Given the description of an element on the screen output the (x, y) to click on. 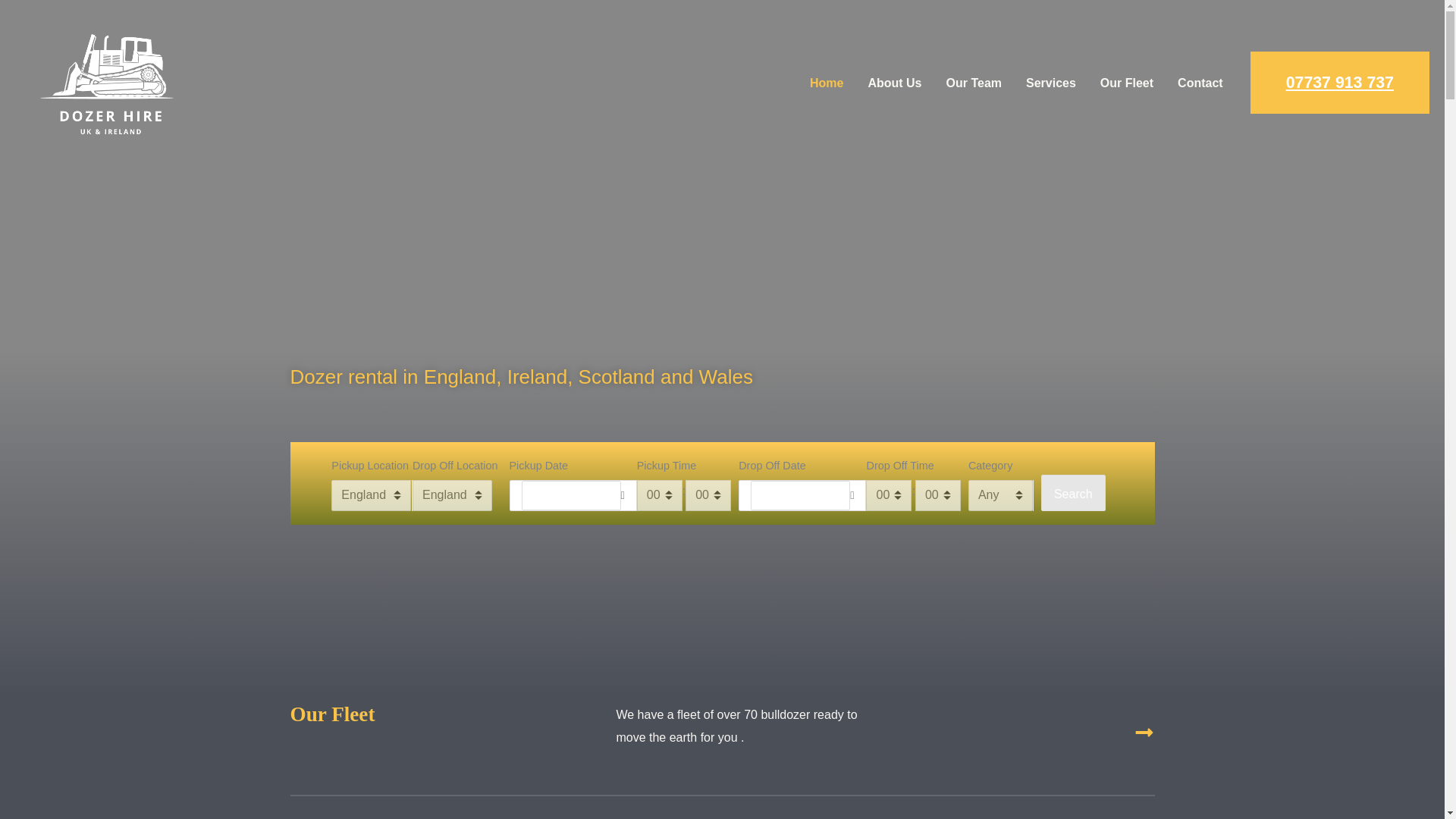
Search (1073, 493)
Services (1050, 83)
Home (826, 83)
Contact (1200, 83)
About Us (894, 83)
Our Team (974, 83)
Our Fleet (1126, 83)
07737 913 737 (1339, 82)
